Given the description of an element on the screen output the (x, y) to click on. 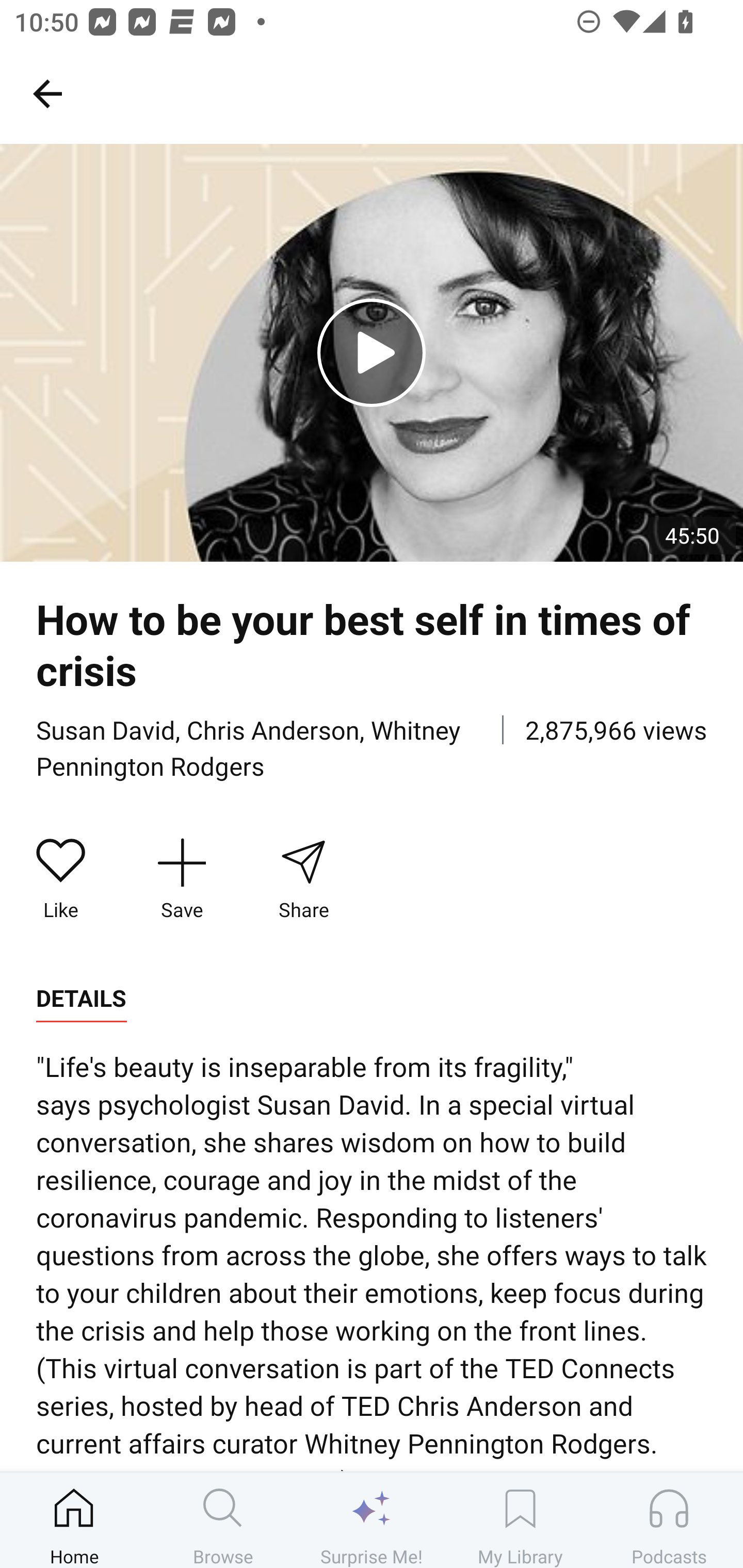
Go back (47, 92)
Like (60, 879)
Save (181, 879)
Share (302, 879)
DETAILS (80, 998)
Home (74, 1520)
Browse (222, 1520)
Surprise Me! (371, 1520)
My Library (519, 1520)
Podcasts (668, 1520)
